Given the description of an element on the screen output the (x, y) to click on. 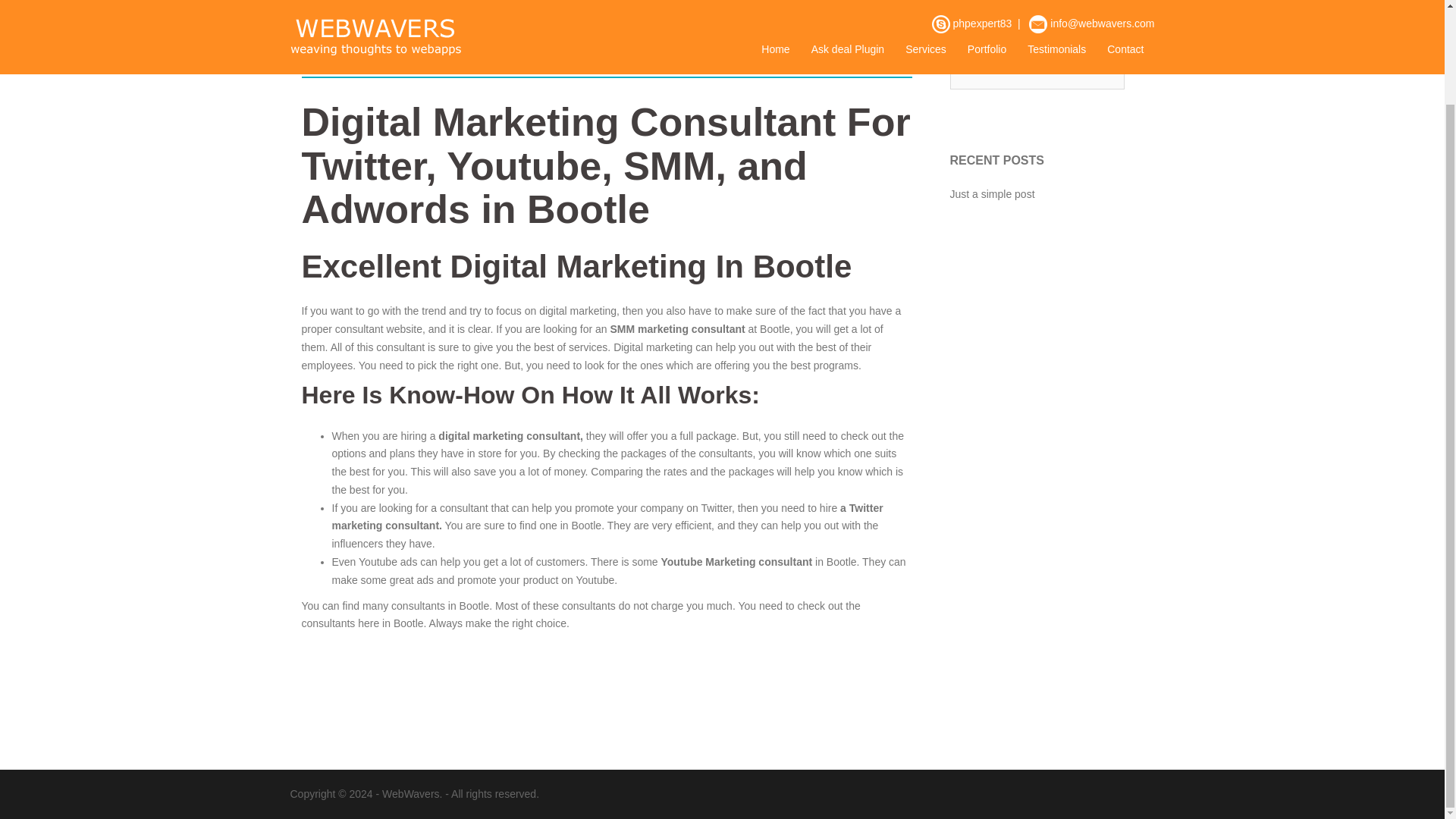
Just a simple post (991, 193)
